Given the description of an element on the screen output the (x, y) to click on. 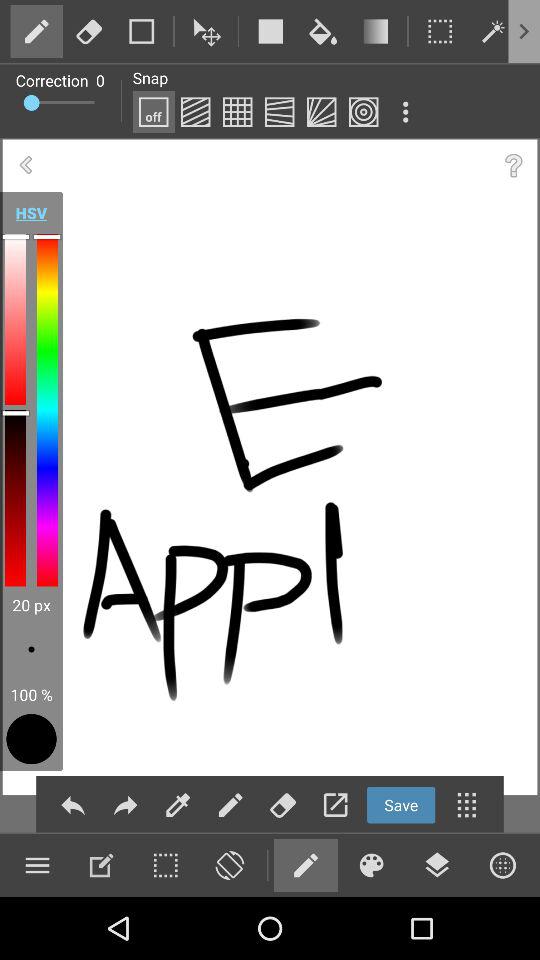
medibang paint edit icon (101, 865)
